Given the description of an element on the screen output the (x, y) to click on. 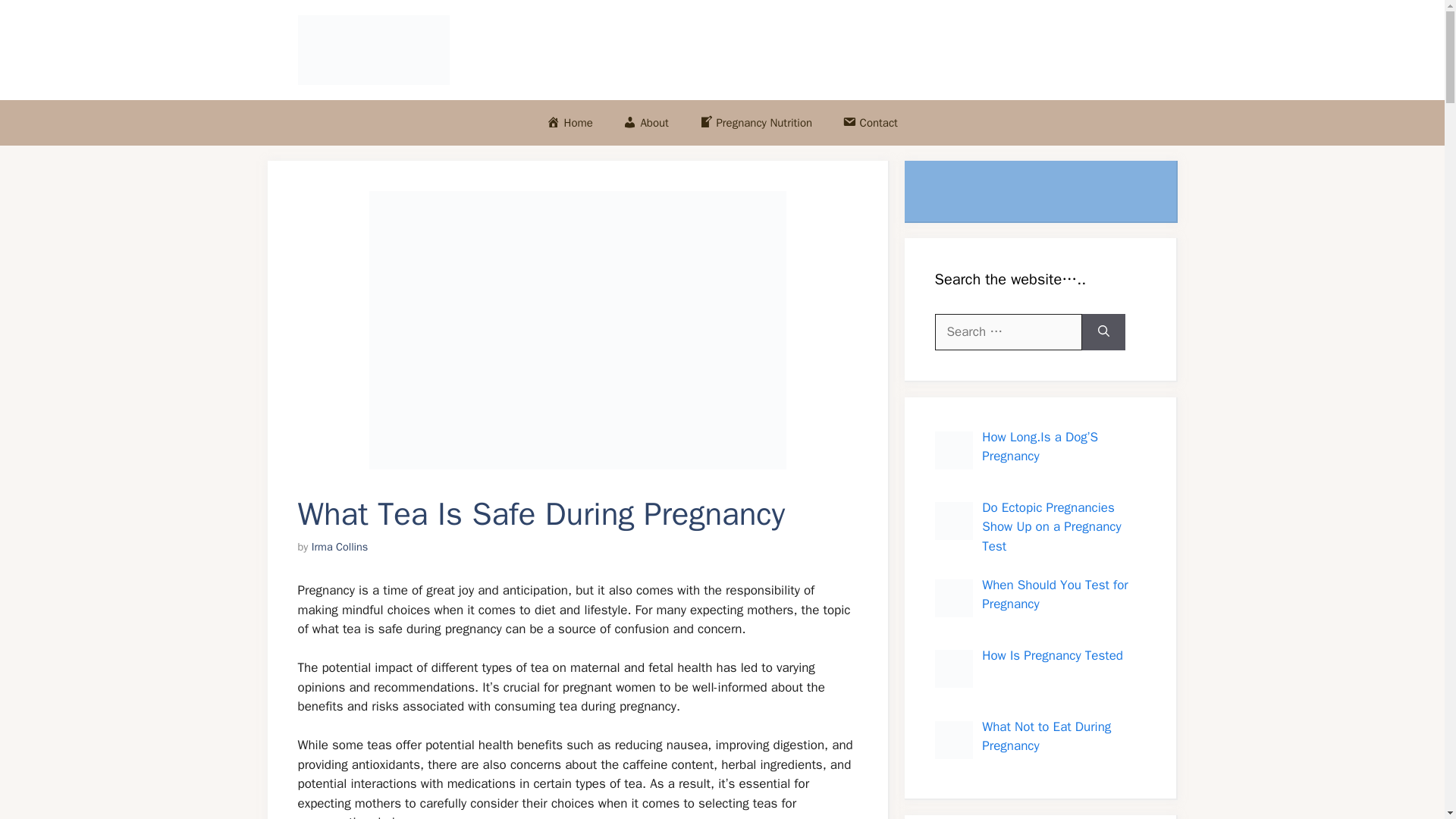
Pregnancy Nutrition (755, 122)
Irma Collins (339, 546)
Home (569, 122)
View all posts by Irma Collins (339, 546)
What Tea Is Safe During Pregnancy (577, 329)
Contact (869, 122)
About (646, 122)
